Given the description of an element on the screen output the (x, y) to click on. 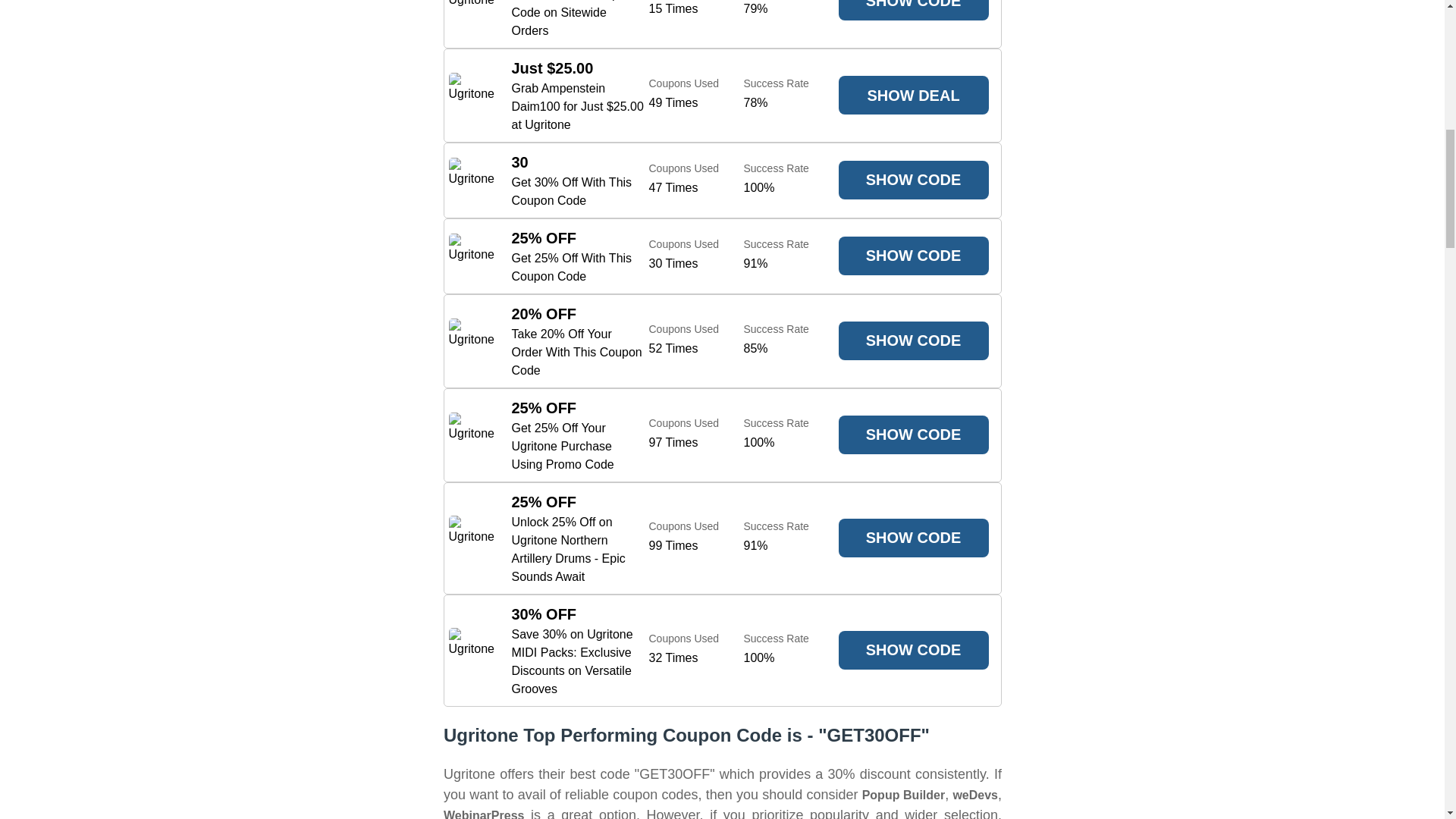
Ugritone (471, 180)
SHOW CODE (913, 340)
SHOW CODE (913, 10)
Popup Builder (902, 794)
WebinarPress (482, 813)
SHOW CODE (913, 255)
SHOW DEAL (913, 95)
SHOW CODE (913, 649)
SHOW CODE (913, 434)
Ugritone (471, 12)
SHOW CODE (913, 537)
Ugritone (471, 256)
weDevs (974, 794)
SHOW CODE (913, 179)
Ugritone (471, 94)
